Given the description of an element on the screen output the (x, y) to click on. 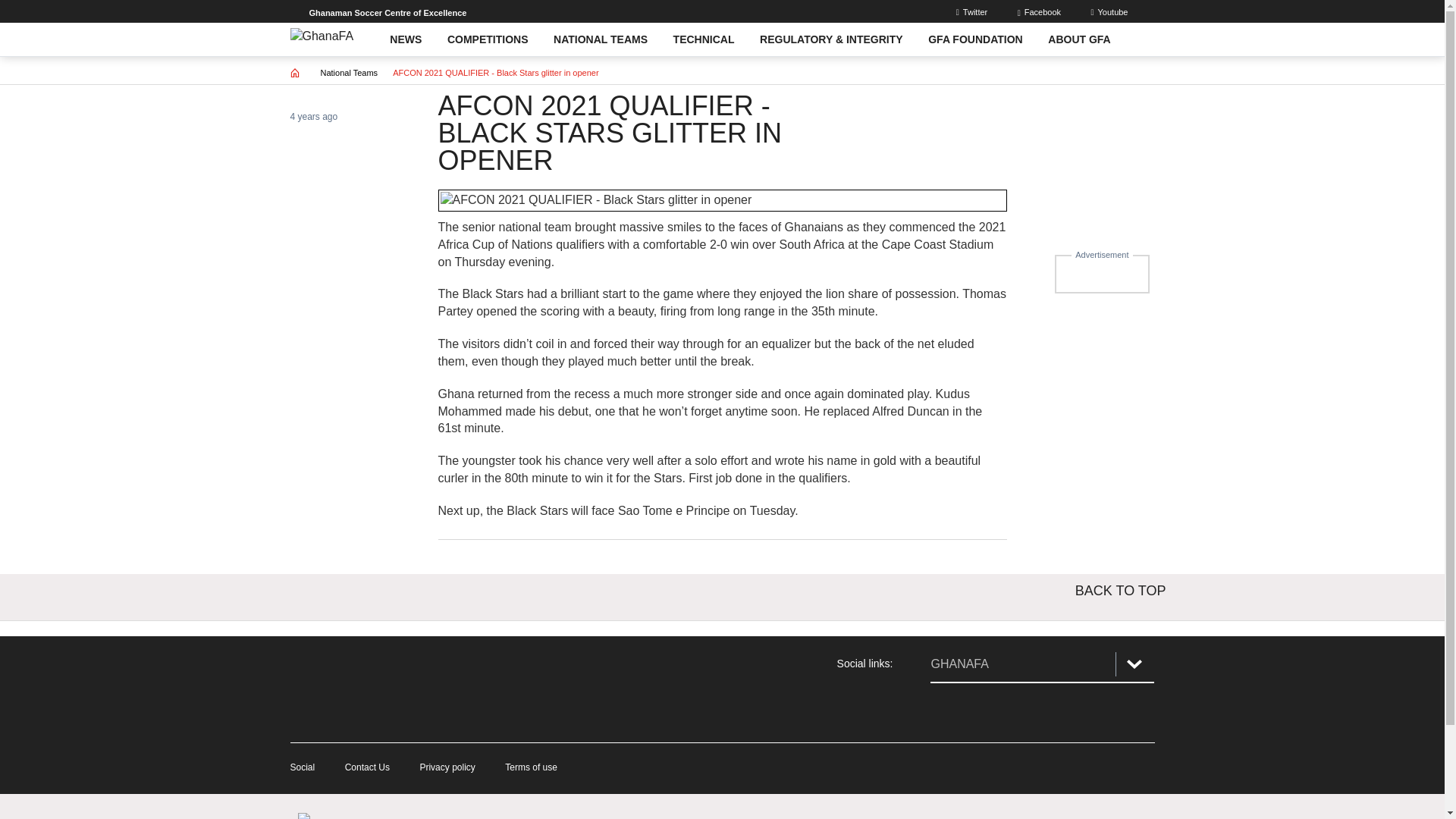
View the GhanaFA YouTube channel (1133, 712)
View the GhanaFA Twitter channel (1042, 712)
sign in (1040, 11)
NEWS (406, 39)
View the GhanaFA Facebook channel (950, 712)
sign in (973, 11)
COMPETITIONS (487, 39)
sign in (1110, 11)
